Given the description of an element on the screen output the (x, y) to click on. 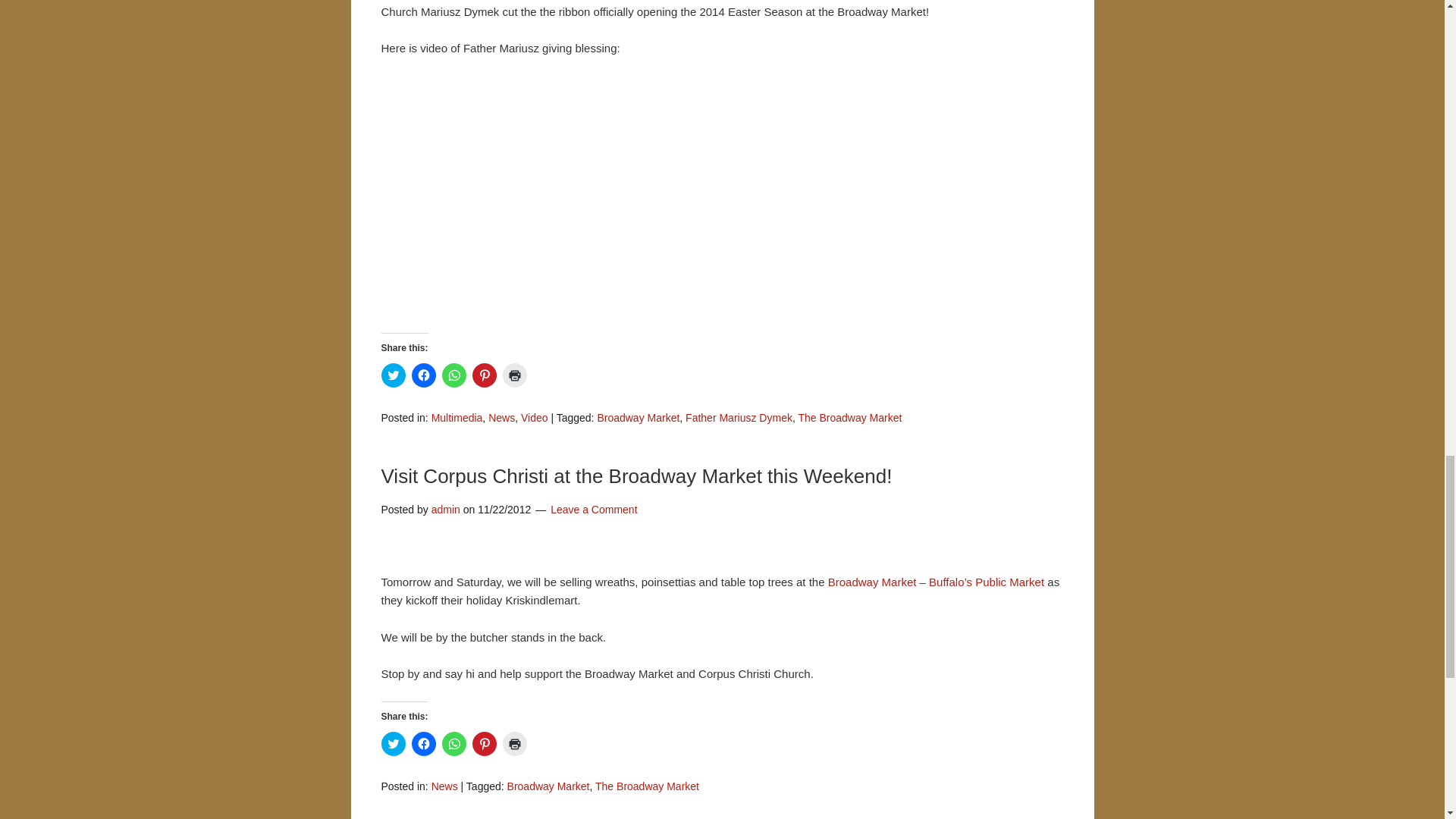
Click to share on Facebook (422, 375)
Thursday, November 22, 2012, 11:44 pm (504, 509)
Father Mariusz Dymek (738, 417)
Leave a Comment (593, 509)
Click to print (513, 375)
Click to share on WhatsApp (453, 375)
Click to share on Twitter (392, 743)
admin (445, 509)
The Broadway Market (849, 417)
Click to share on Pinterest (483, 375)
